Given the description of an element on the screen output the (x, y) to click on. 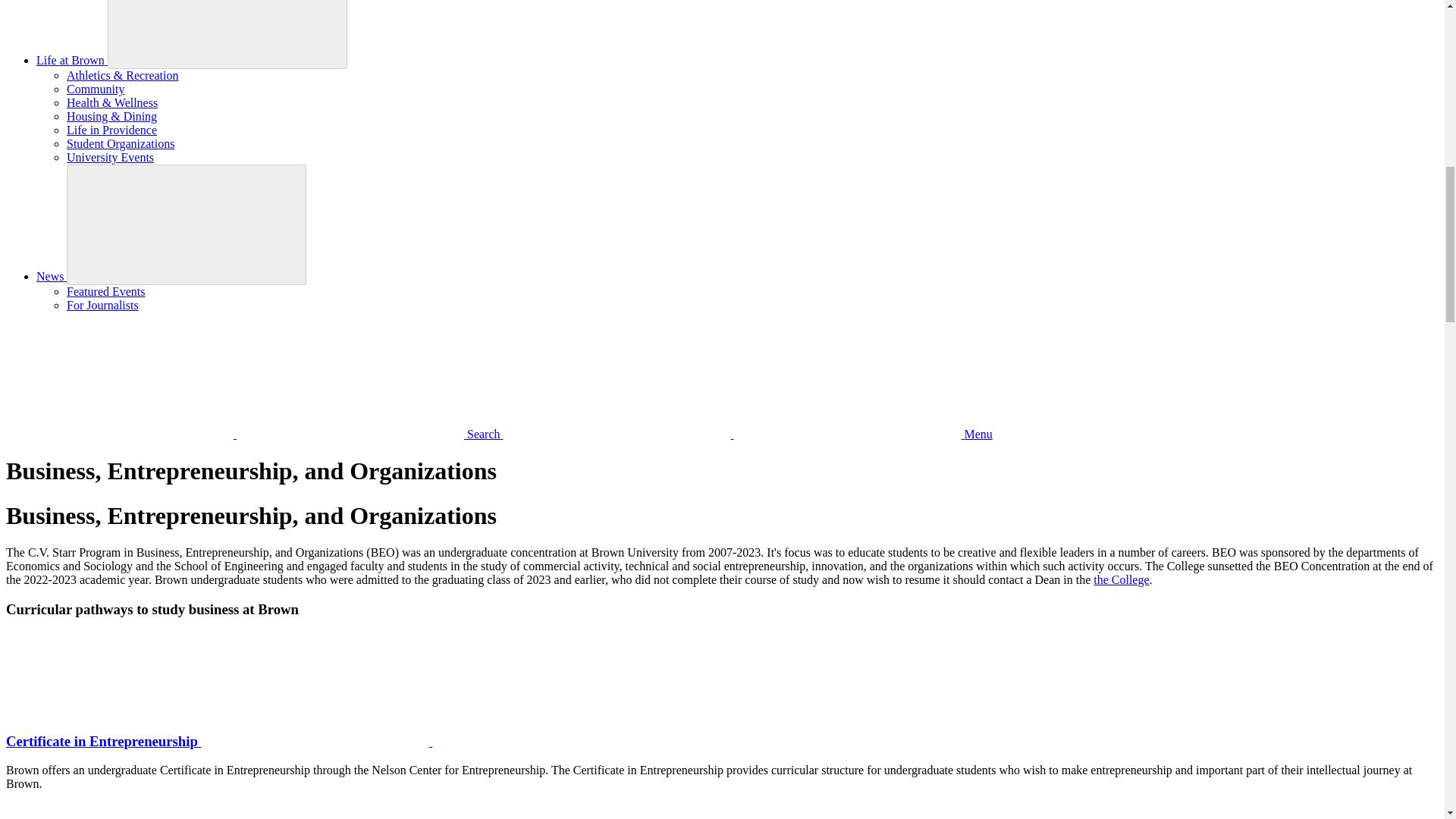
University Events (110, 156)
Search (254, 433)
Featured Events (105, 291)
the College (1120, 579)
Menu (747, 433)
Life at Brown (71, 60)
Student Organizations (120, 143)
Life in Providence (111, 129)
Community (94, 88)
For Journalists (102, 305)
News (51, 276)
